Given the description of an element on the screen output the (x, y) to click on. 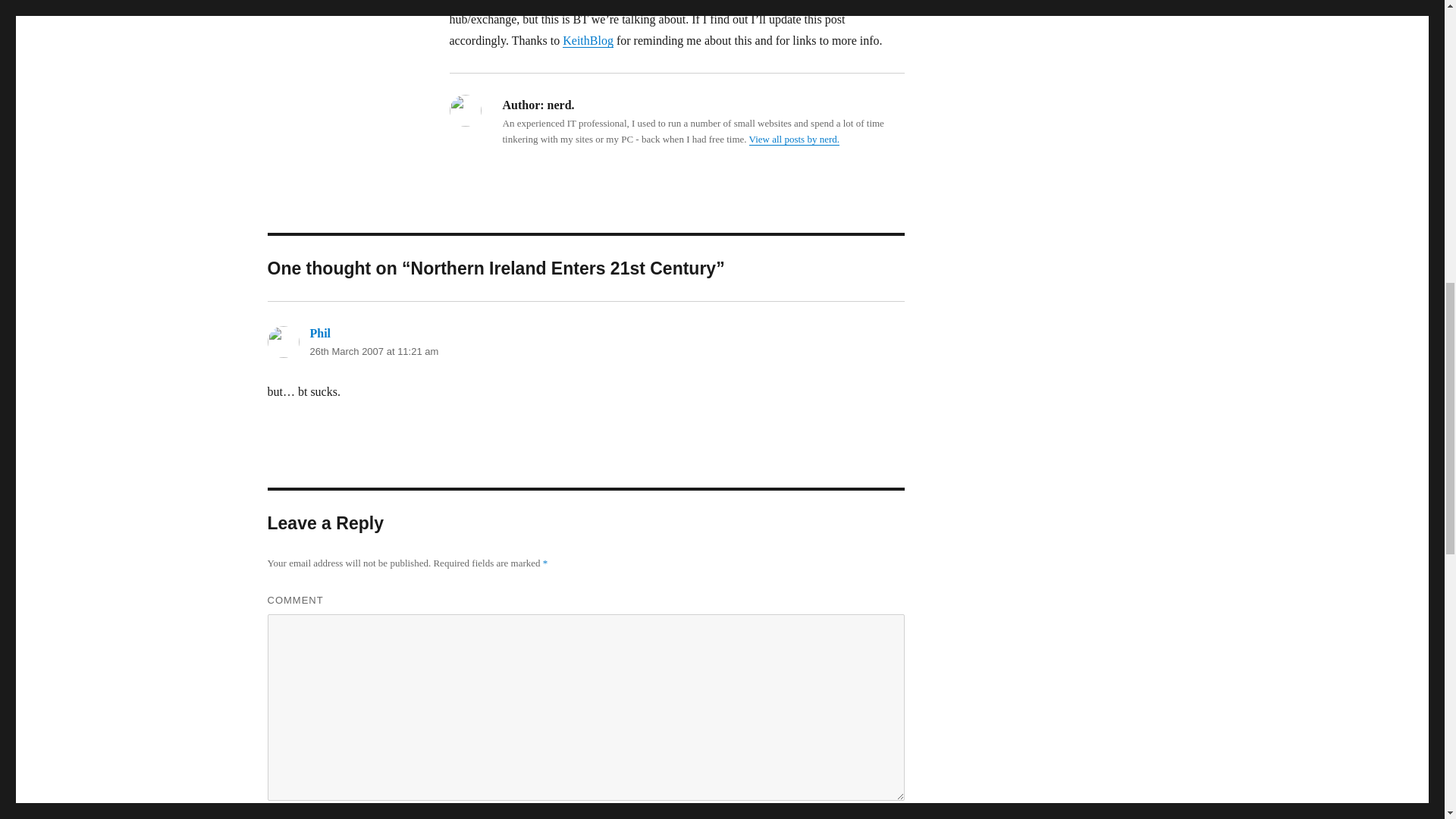
26th March 2007 at 11:21 am (373, 351)
KeithBlog (587, 40)
View all posts by nerd. (794, 138)
Phil (319, 332)
